Given the description of an element on the screen output the (x, y) to click on. 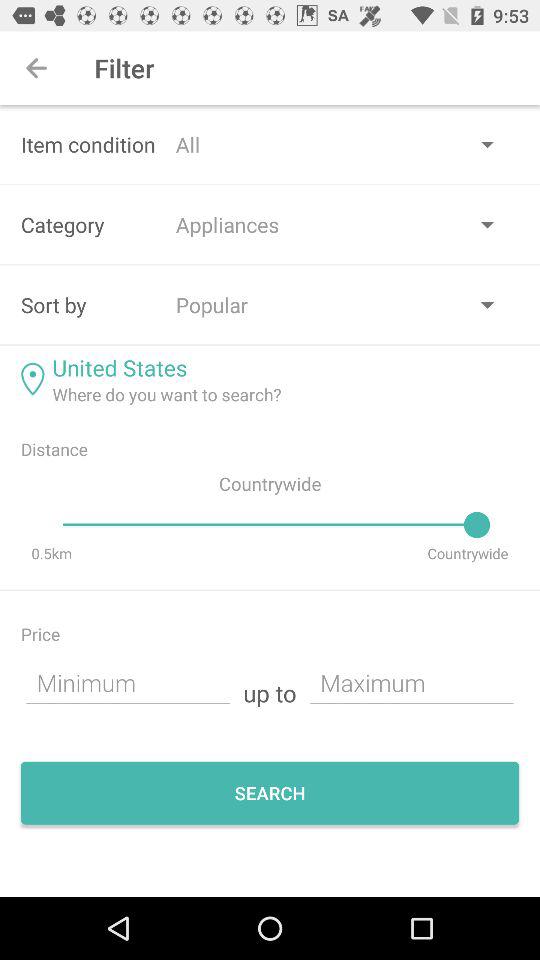
click on the option search (269, 793)
click the location icon on the web page (32, 378)
